Given the description of an element on the screen output the (x, y) to click on. 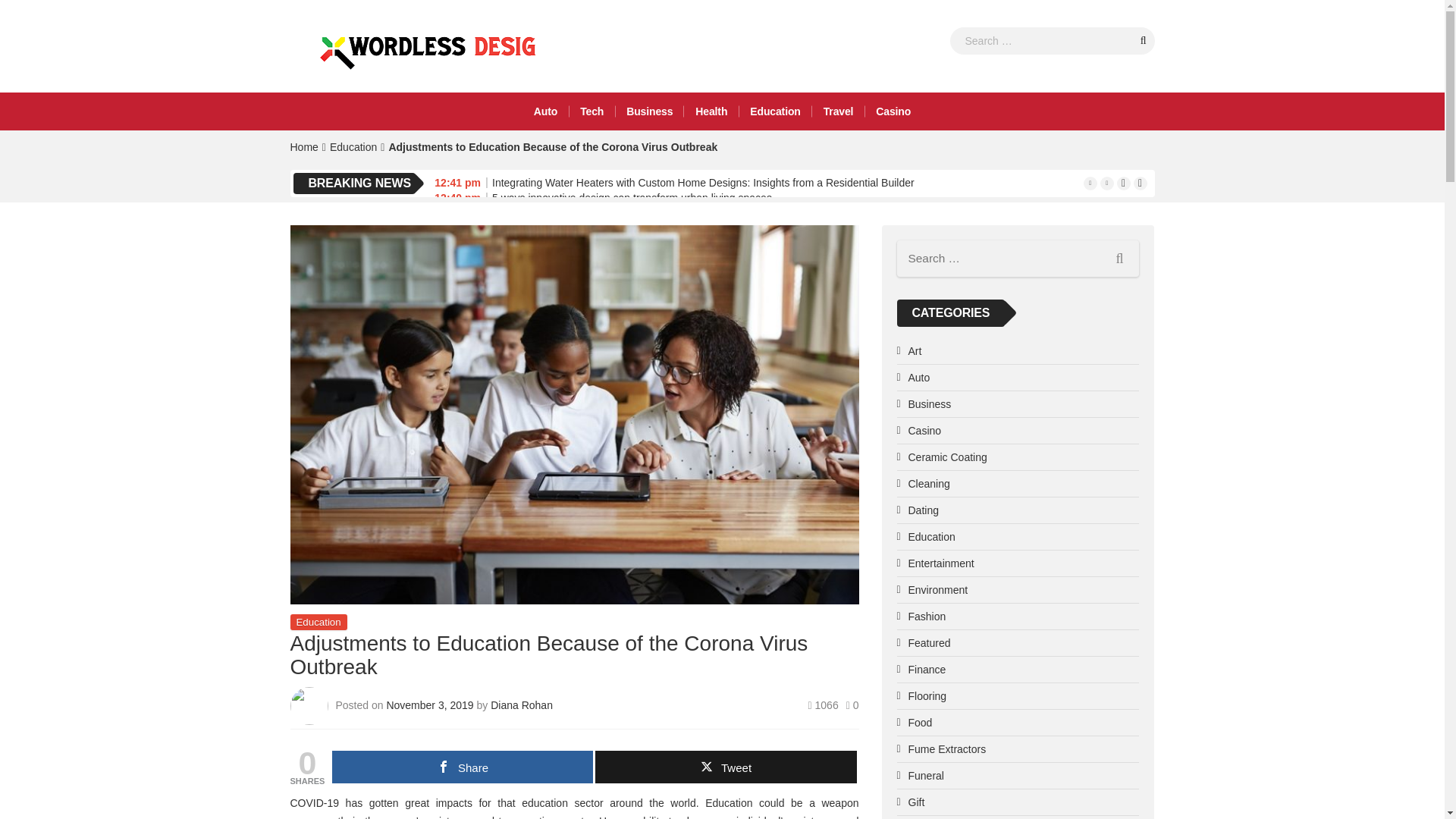
Home (303, 146)
November 3, 2019 (430, 705)
Casino (892, 111)
0 (852, 705)
Home (303, 146)
Education (774, 111)
Education (353, 146)
5 ways innovative design can transform urban living spaces (631, 197)
Tweet (725, 766)
